Given the description of an element on the screen output the (x, y) to click on. 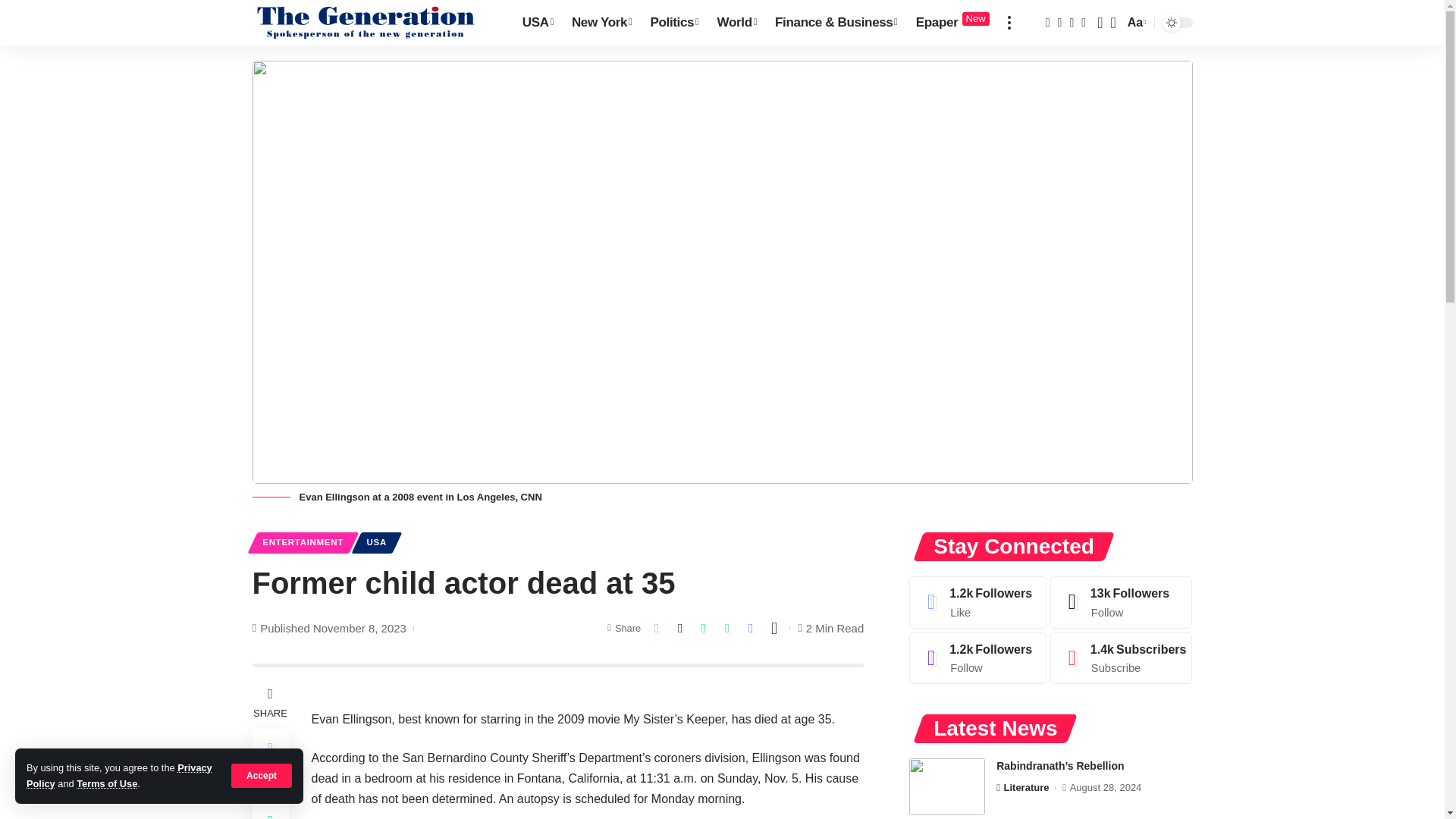
New York (602, 22)
Accept (261, 775)
The Generation (365, 22)
Politics (673, 22)
USA (537, 22)
Terms of Use (106, 783)
Privacy Policy (119, 775)
